Given the description of an element on the screen output the (x, y) to click on. 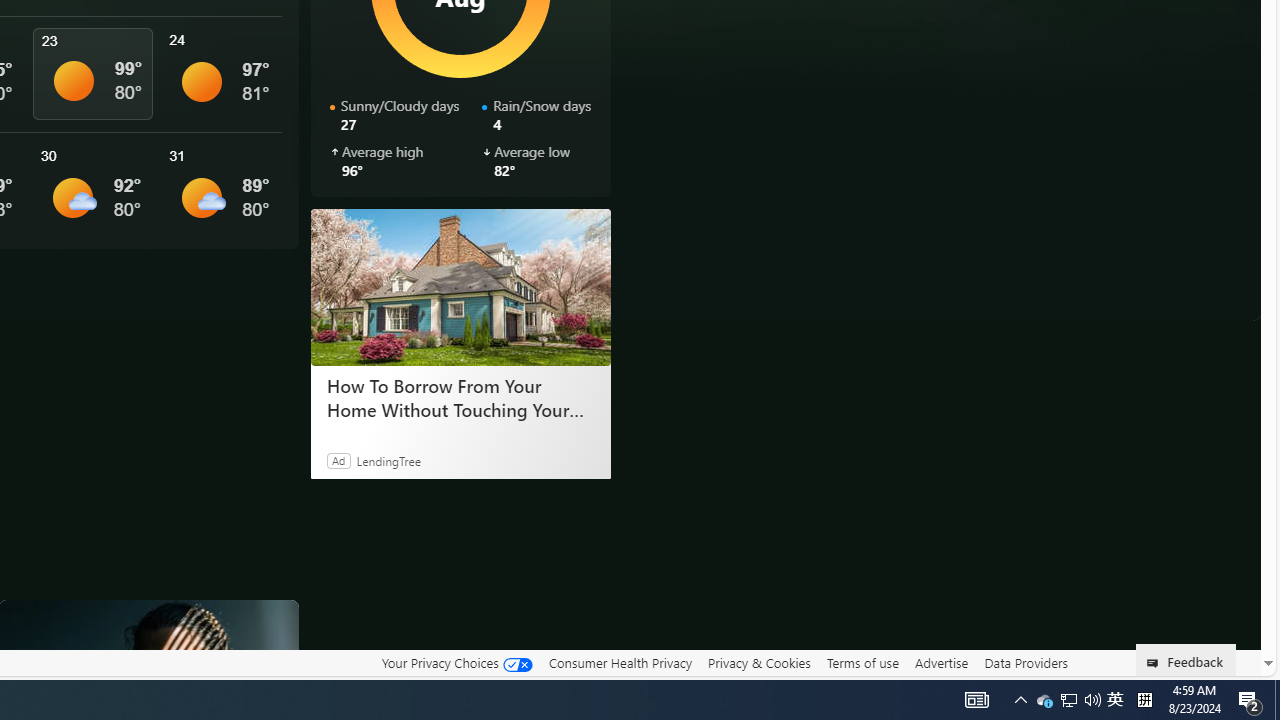
How To Borrow From Your Home Without Touching Your Mortgage (460, 397)
See More Details (221, 190)
Terms of use (861, 663)
Privacy & Cookies (759, 662)
Terms of use (861, 662)
Data Providers (1025, 662)
Your Privacy Choices (456, 663)
